Given the description of an element on the screen output the (x, y) to click on. 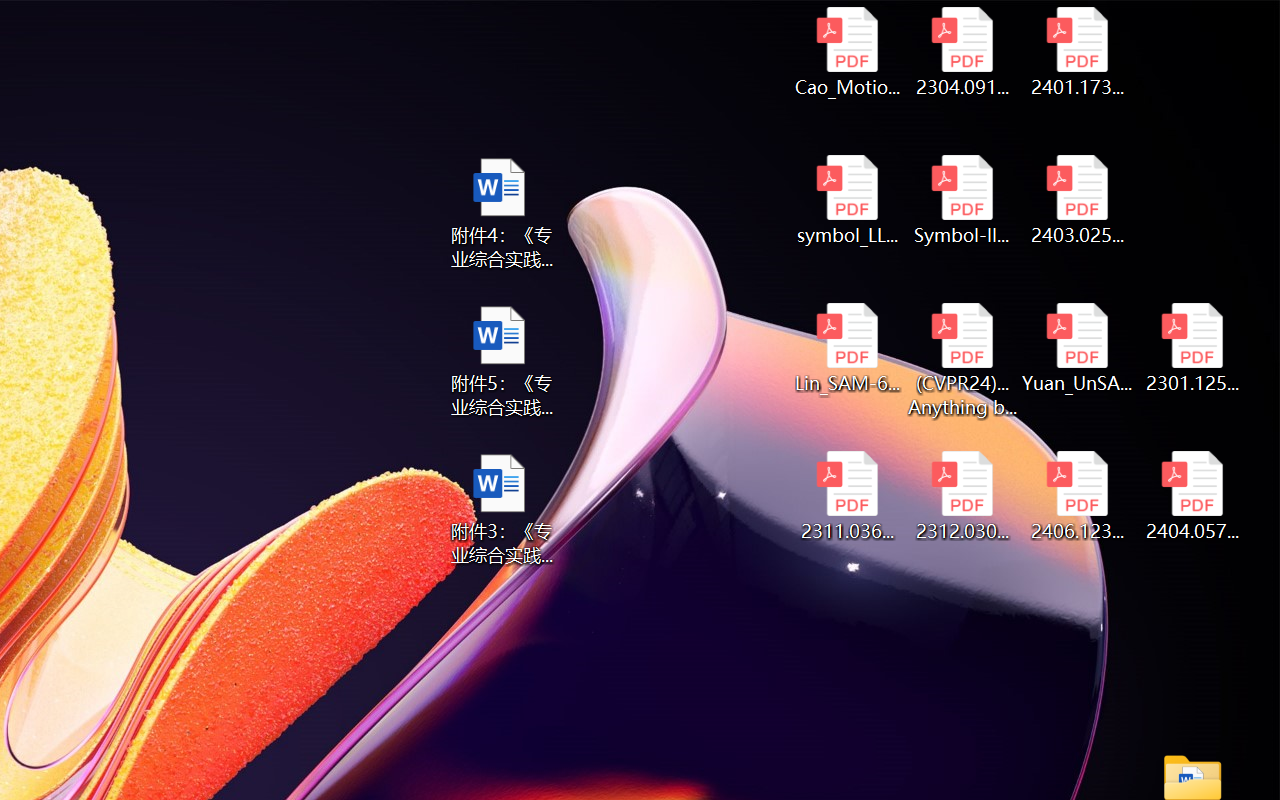
2406.12373v2.pdf (1077, 496)
2311.03658v2.pdf (846, 496)
